Given the description of an element on the screen output the (x, y) to click on. 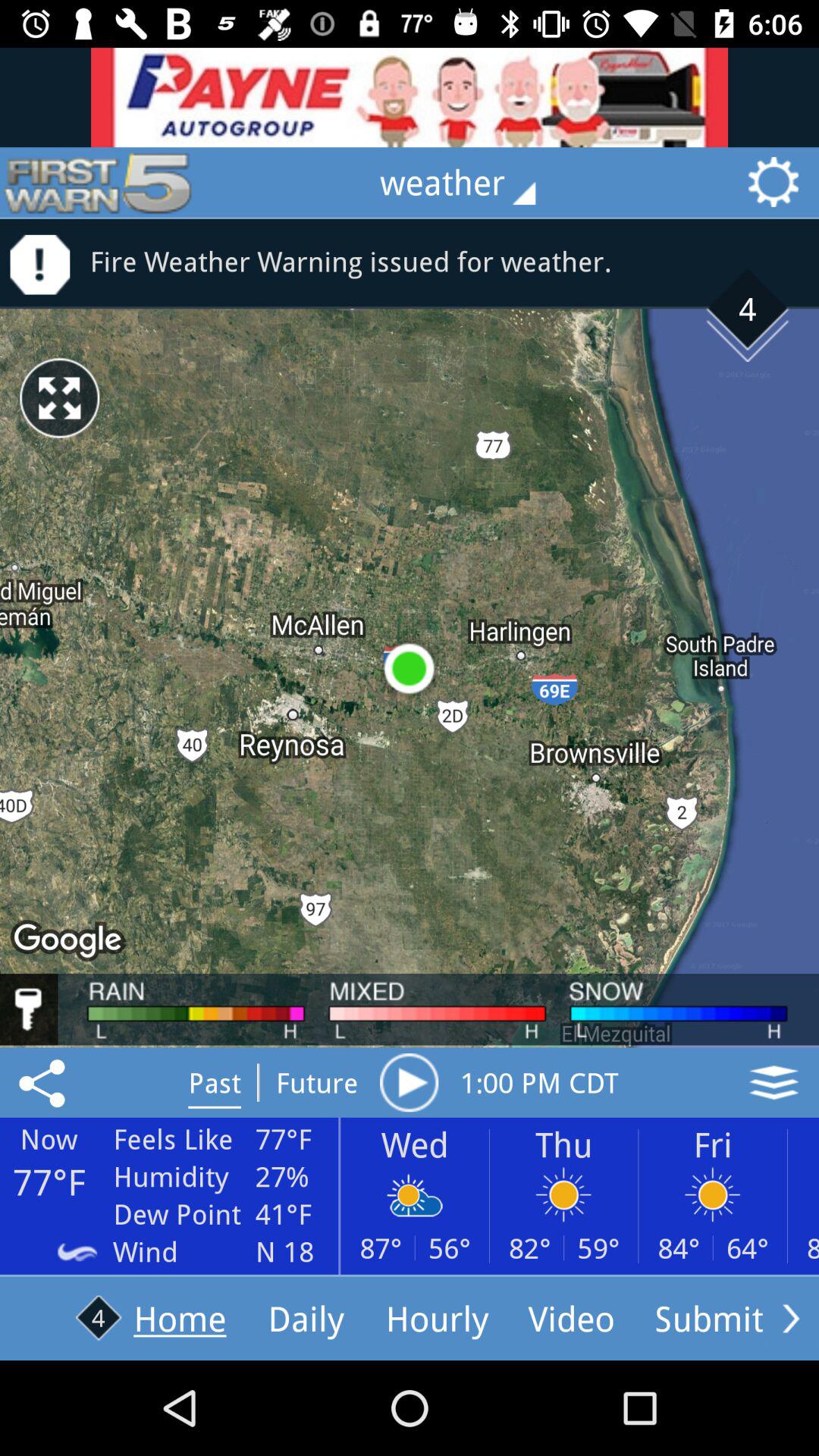
go to advertisement (409, 97)
